Given the description of an element on the screen output the (x, y) to click on. 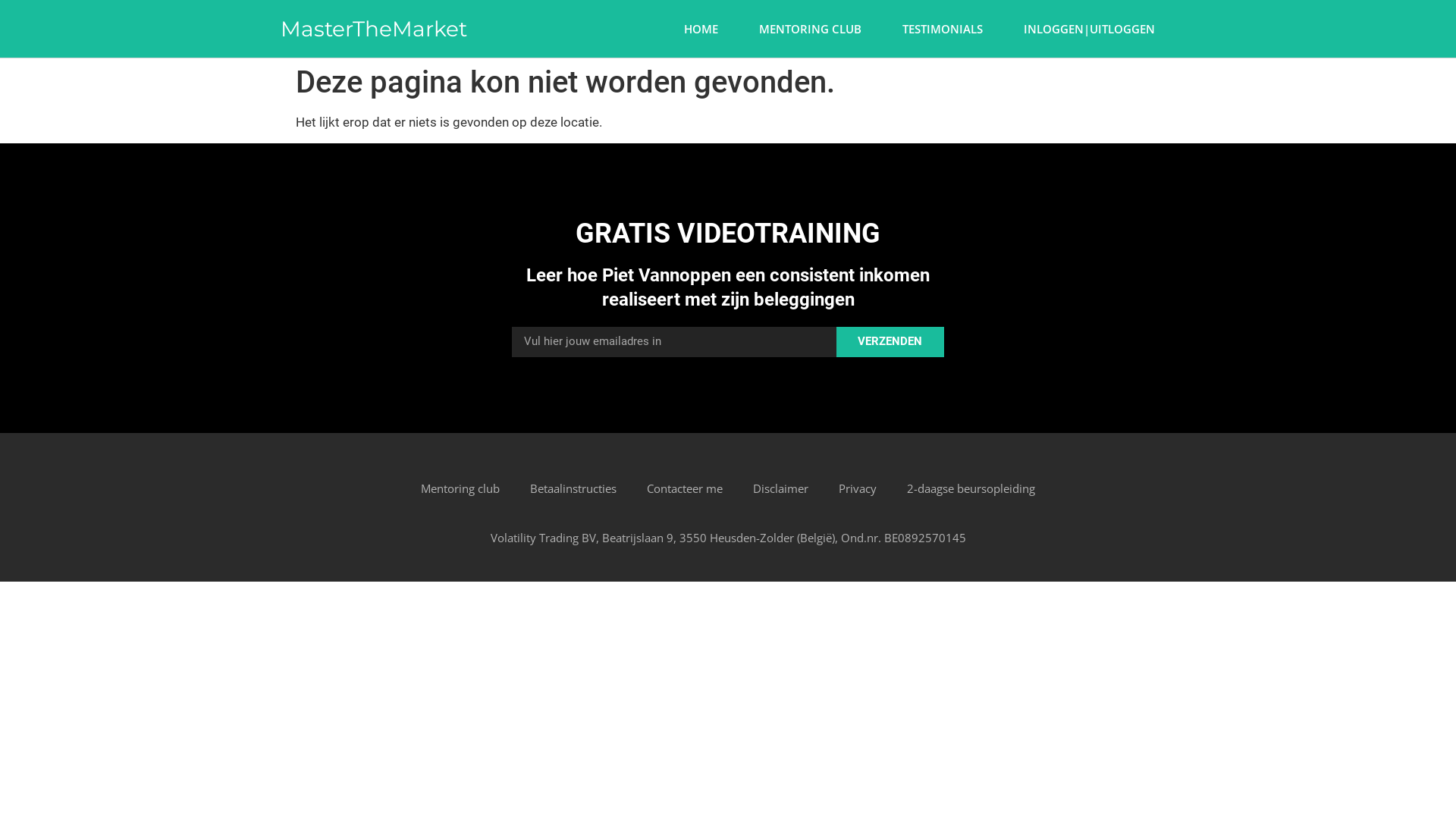
Mentoring club Element type: text (459, 487)
Privacy Element type: text (857, 487)
INLOGGEN|UITLOGGEN Element type: text (1089, 28)
TESTIMONIALS Element type: text (942, 28)
2-daagse beursopleiding Element type: text (970, 487)
HOME Element type: text (700, 28)
VERZENDEN Element type: text (889, 341)
Contacteer me Element type: text (684, 487)
MENTORING CLUB Element type: text (809, 28)
Disclaimer Element type: text (780, 487)
Betaalinstructies Element type: text (572, 487)
